Given the description of an element on the screen output the (x, y) to click on. 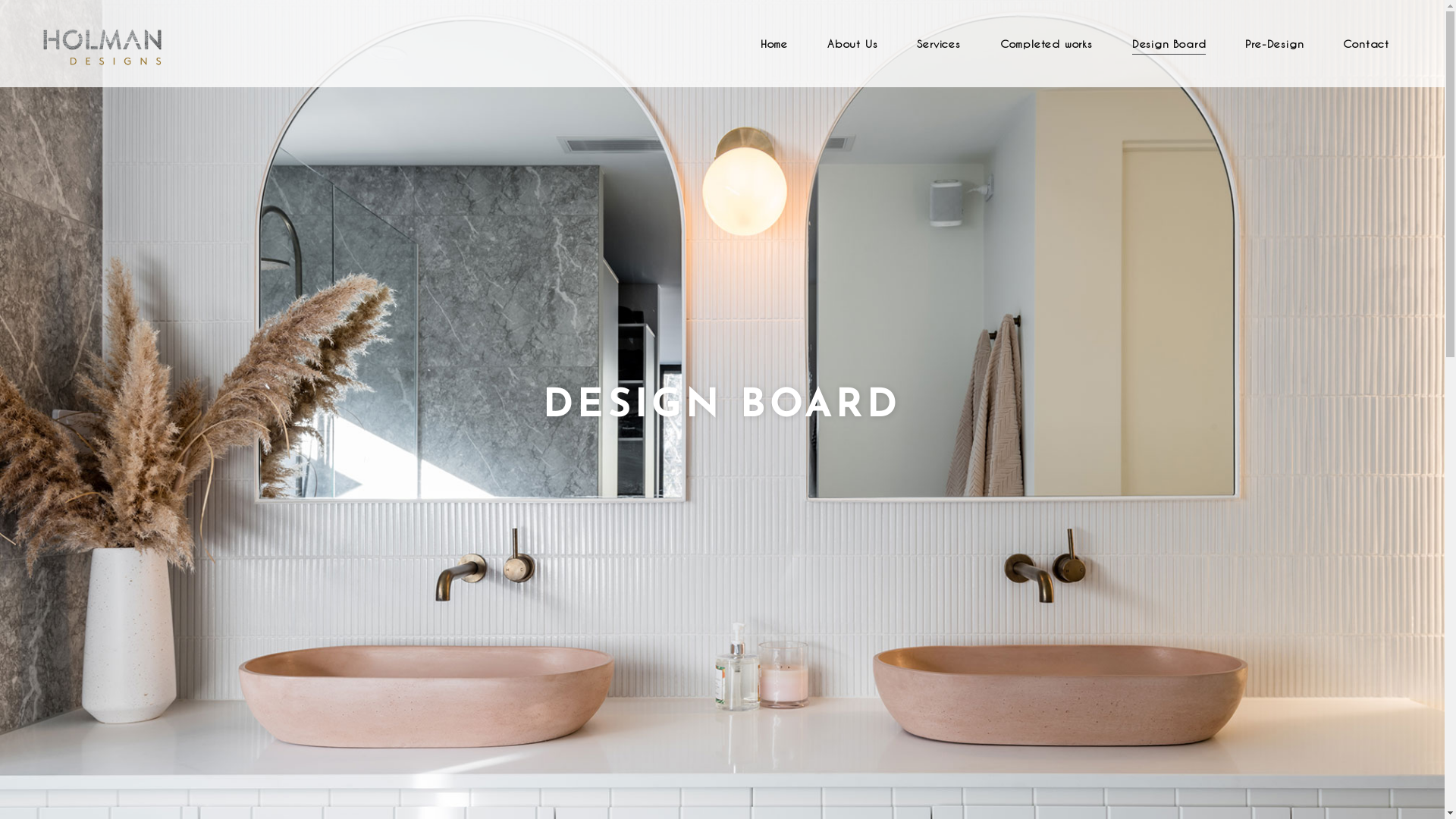
Completed works Element type: text (1046, 43)
Services Element type: text (938, 43)
Design Board Element type: text (1169, 43)
Contact Element type: text (1368, 43)
Pre-Design Element type: text (1274, 43)
Home Element type: text (773, 43)
About Us Element type: text (852, 43)
